Given the description of an element on the screen output the (x, y) to click on. 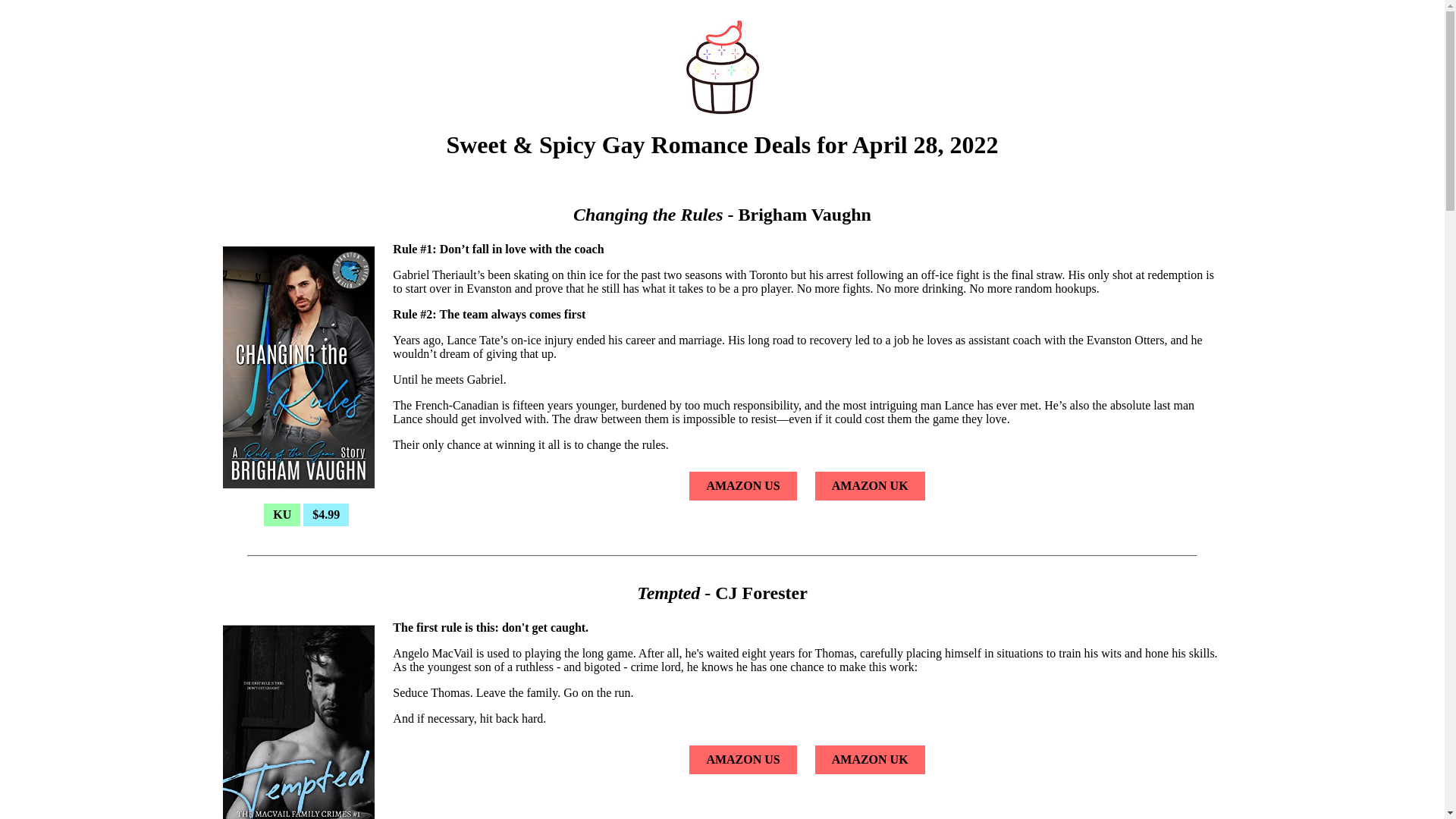
AMAZON UK (870, 485)
AMAZON US (742, 758)
AMAZON UK (870, 758)
AMAZON US (742, 485)
